Given the description of an element on the screen output the (x, y) to click on. 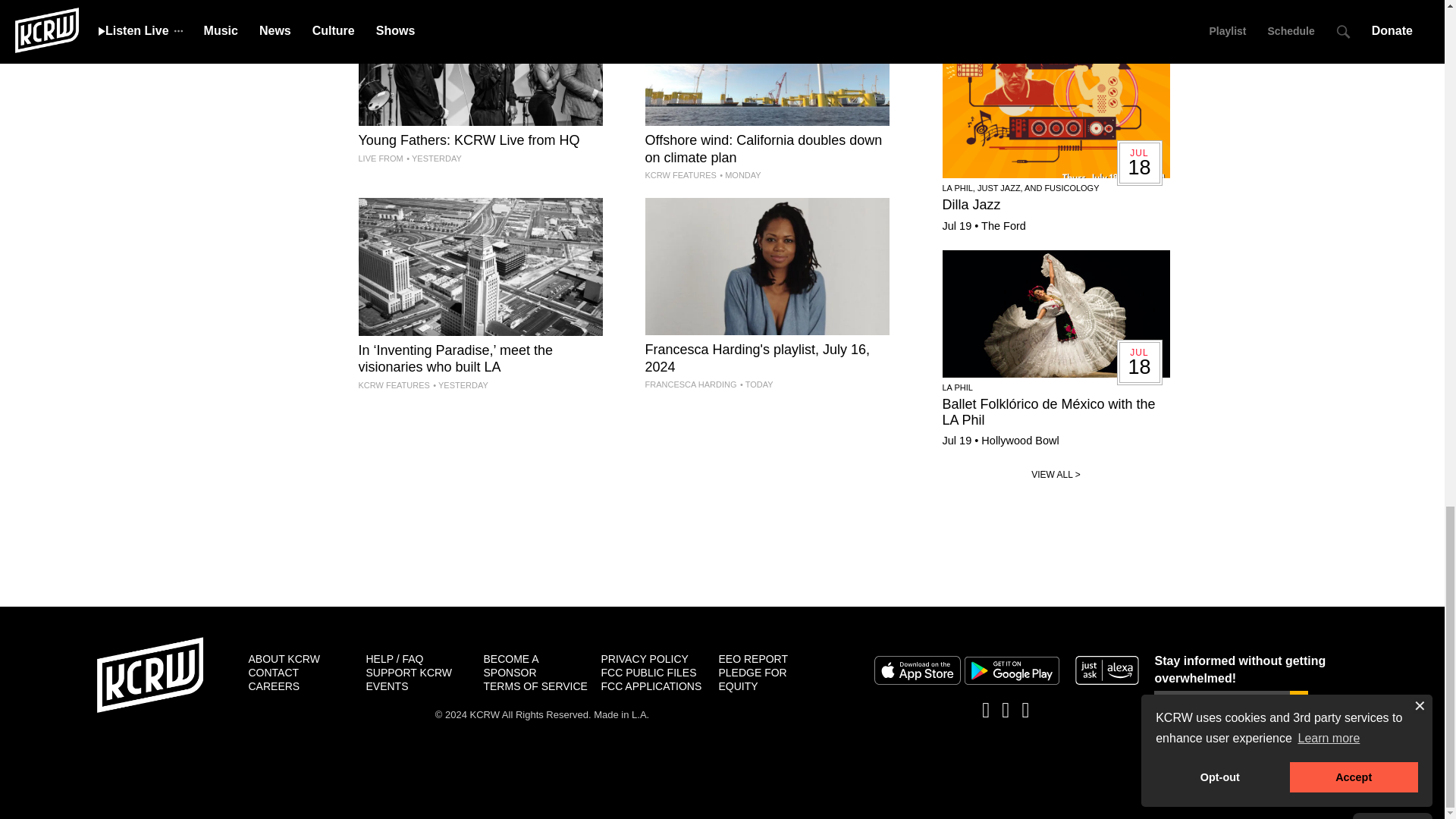
Tuesday, July 16th 2024, 10:00 pm (433, 157)
3rd party ad content (721, 564)
KCRW (150, 674)
Monday, July 15th 2024, 3:00 pm (739, 174)
Tuesday, July 16th 2024, 3:00 pm (459, 384)
Music to make you feel. (766, 295)
Wednesday, July 17th 2024, 1:00 pm (756, 384)
